Given the description of an element on the screen output the (x, y) to click on. 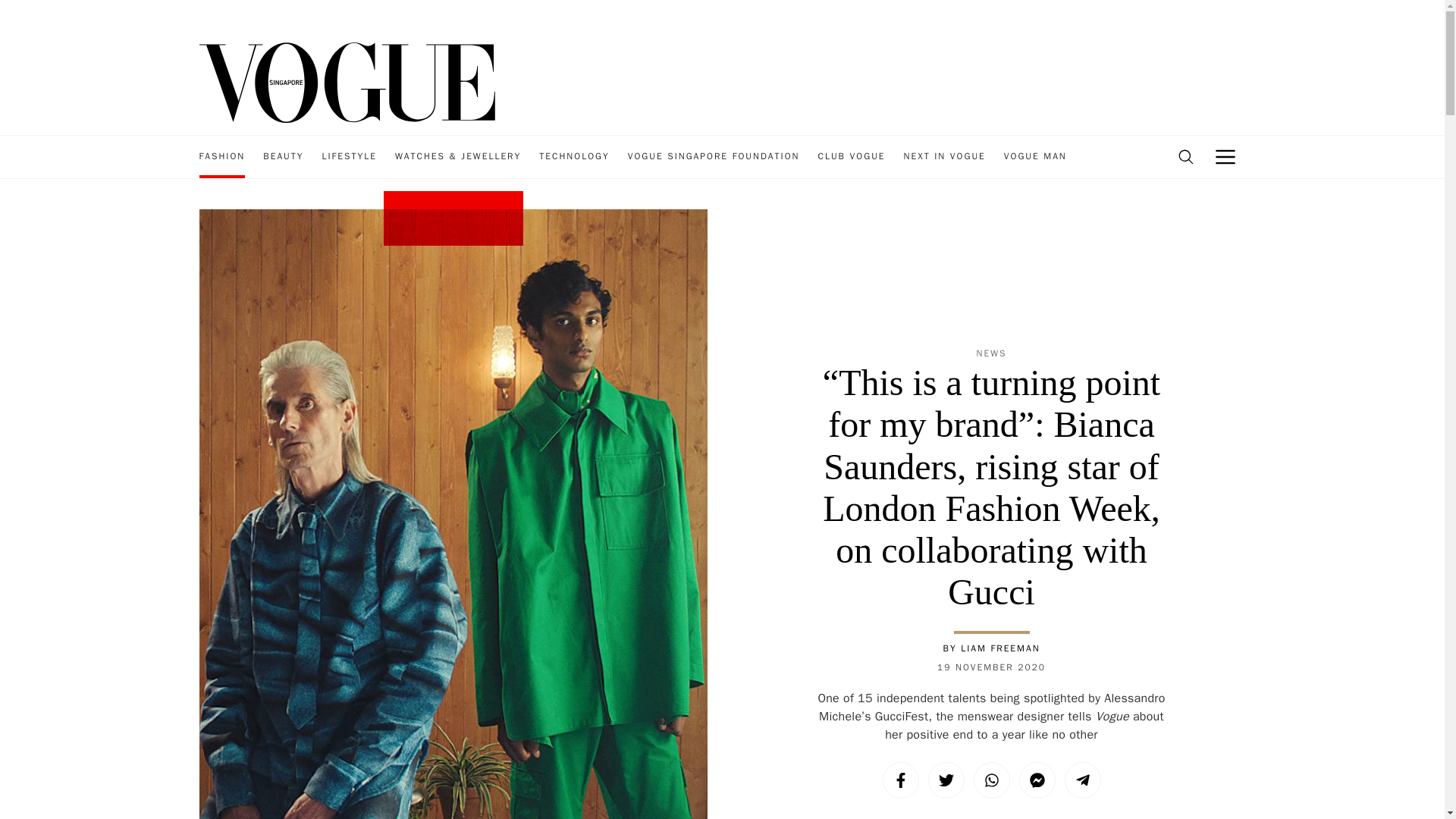
CLUB VOGUE (850, 156)
NEWS (991, 353)
Open Menu (1224, 156)
VOGUE SINGAPORE FOUNDATION (713, 156)
BEAUTY (282, 156)
TECHNOLOGY (573, 156)
WhatsApp (992, 780)
LIAM FREEMAN (999, 648)
VOGUE MAN (1035, 156)
LIFESTYLE (348, 156)
